Given the description of an element on the screen output the (x, y) to click on. 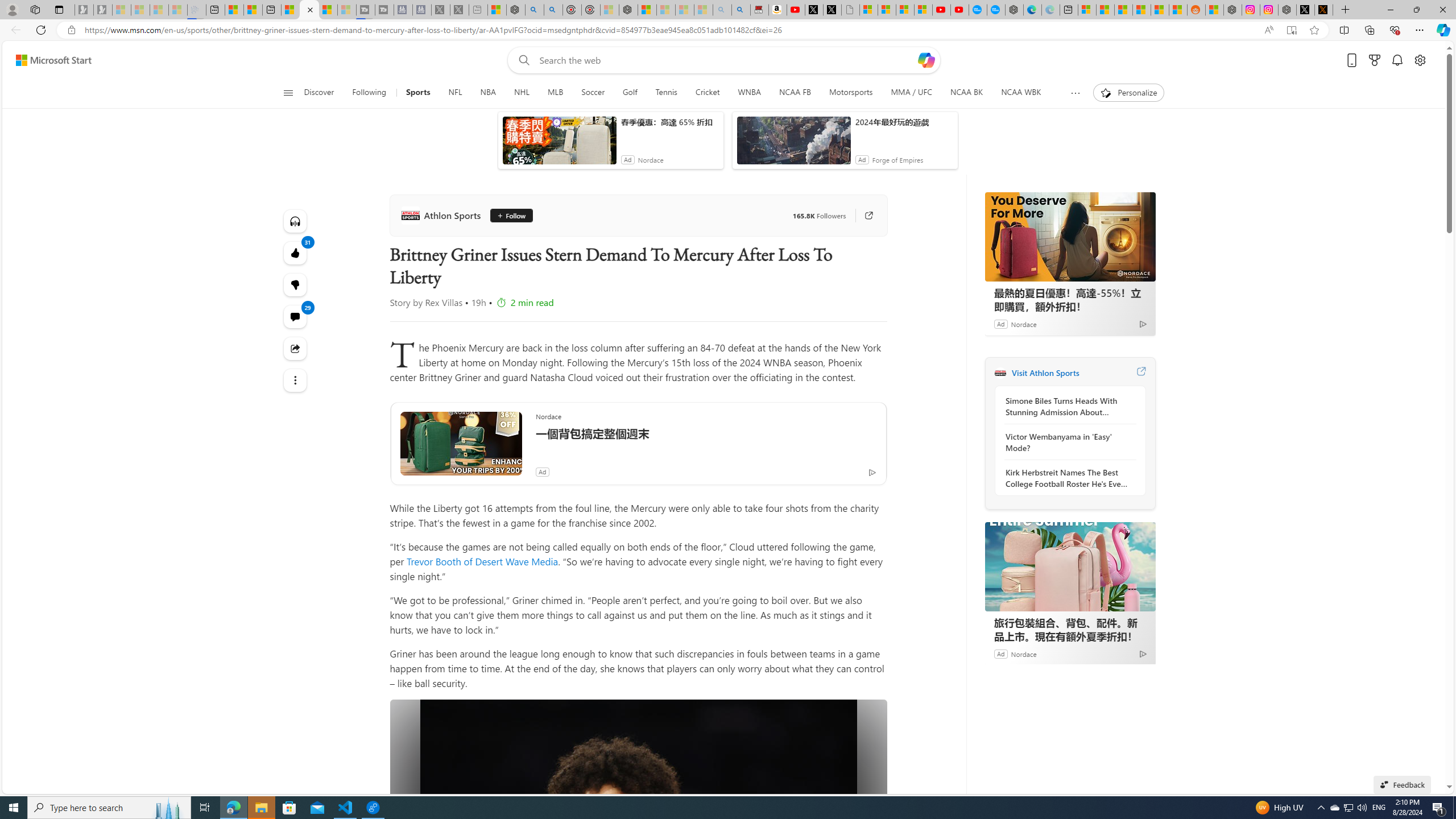
Tennis (666, 92)
NCAA FB (794, 92)
Share this story (295, 348)
Shanghai, China weather forecast | Microsoft Weather (1105, 9)
amazon - Search - Sleeping (721, 9)
Discover (319, 92)
Go to publisher's site (863, 215)
NHL (521, 92)
Following (368, 92)
Sports (417, 92)
Class: button-glyph (287, 92)
